Given the description of an element on the screen output the (x, y) to click on. 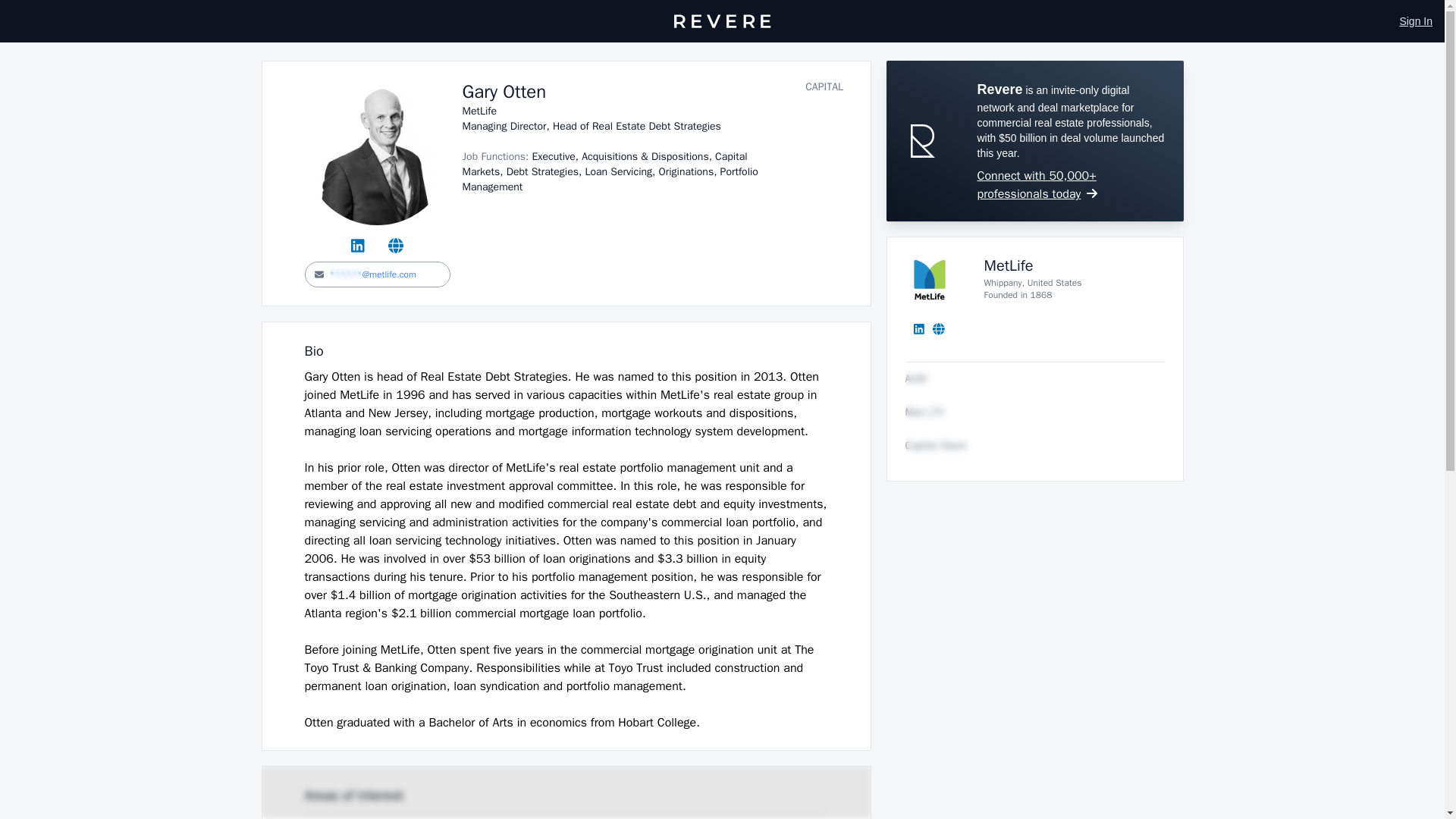
MetLife (1008, 265)
Sign In (1415, 20)
RevereCRE (721, 21)
